Given the description of an element on the screen output the (x, y) to click on. 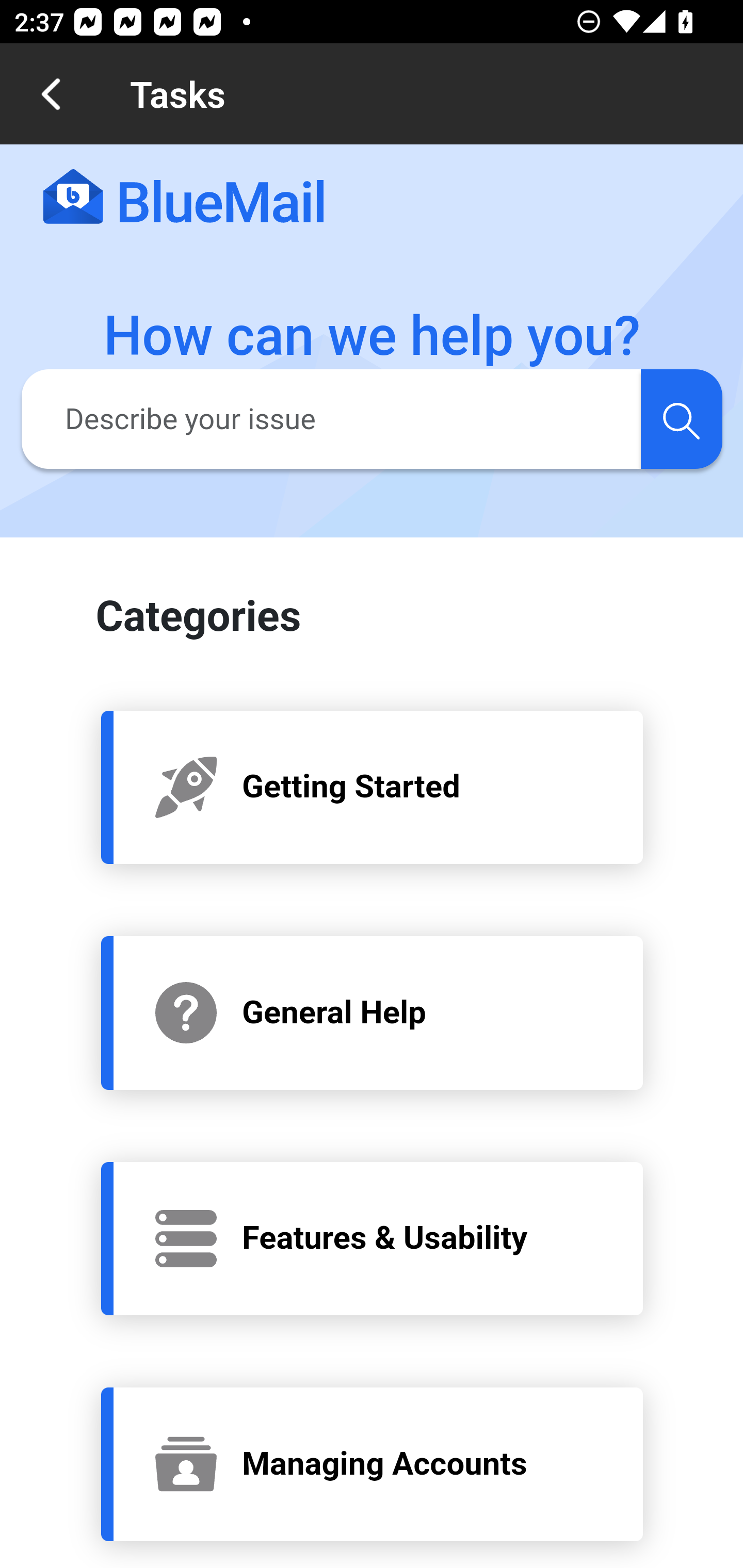
Navigate up (50, 93)
BlueMail Logo (184, 197)
How can we help you? (372, 336)
search (680, 418)
icon Getting Started icon Getting Started (372, 785)
icon General Help icon General Help (372, 1011)
icon Managing Accounts icon Managing Accounts (372, 1463)
